Given the description of an element on the screen output the (x, y) to click on. 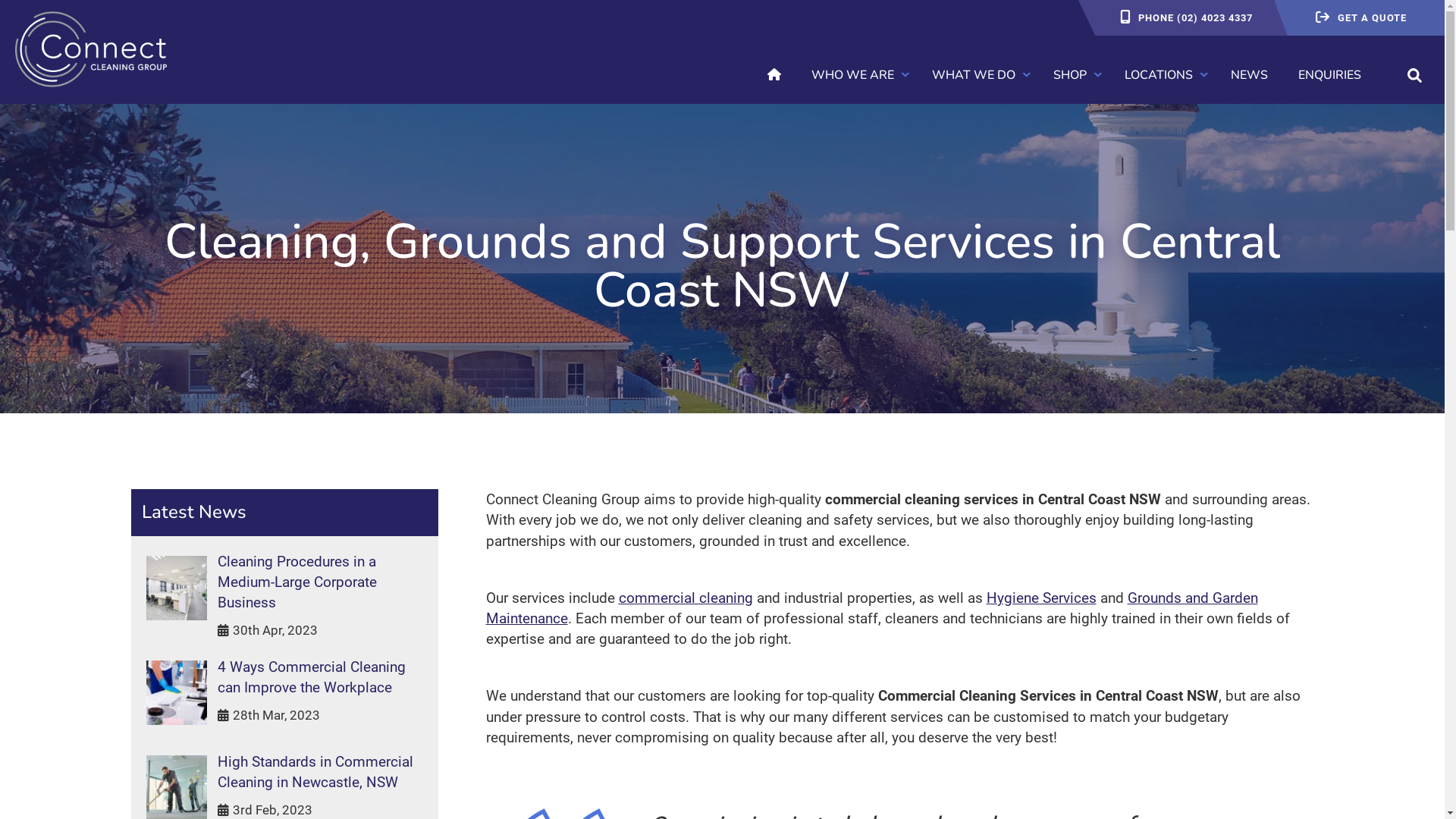
4 Ways Commercial Cleaning can Improve the Workplace Element type: text (284, 676)
Grounds and Garden Maintenance Element type: text (871, 608)
NEWS Element type: text (1248, 74)
High Standards in Commercial Cleaning in Newcastle, NSW Element type: text (284, 771)
SHOP Element type: text (1069, 74)
WHO WE ARE Element type: text (852, 74)
Hygiene Services Element type: text (1040, 597)
commercial cleaning Element type: text (685, 597)
Cleaning Procedures in a Medium-Large Corporate Business Element type: text (284, 582)
WHAT WE DO Element type: text (973, 74)
LOCATIONS Element type: text (1158, 74)
search Element type: text (1414, 74)
ENQUIRIES Element type: text (1329, 74)
GET A QUOTE Element type: text (1359, 17)
PHONE (02) 4023 4337 Element type: text (1184, 17)
